Given the description of an element on the screen output the (x, y) to click on. 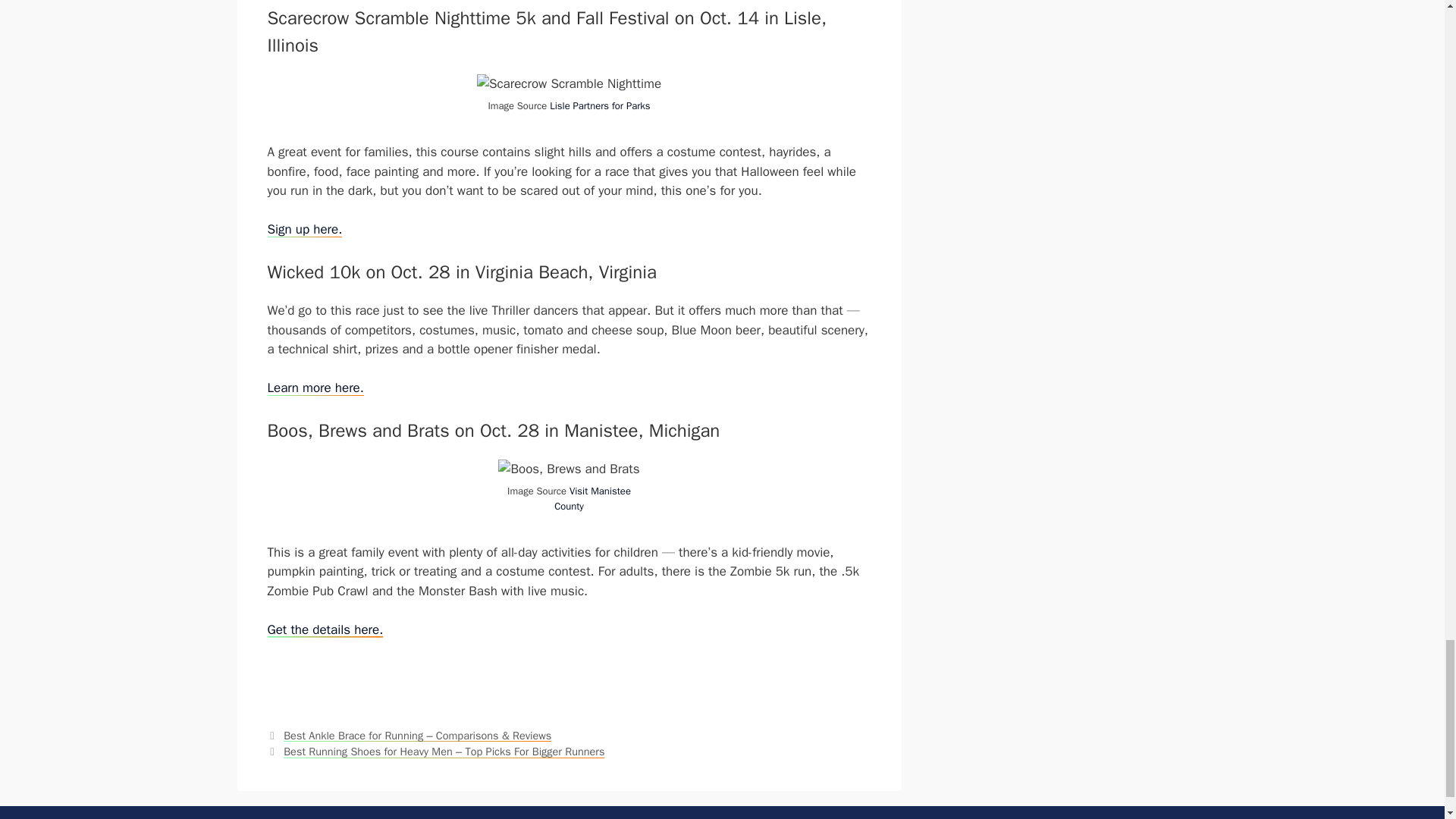
Learn more here. (314, 387)
Sign up here. (304, 229)
Lisle Partners for Parks (599, 105)
Visit Manistee County (592, 498)
Get the details here. (324, 629)
